Given the description of an element on the screen output the (x, y) to click on. 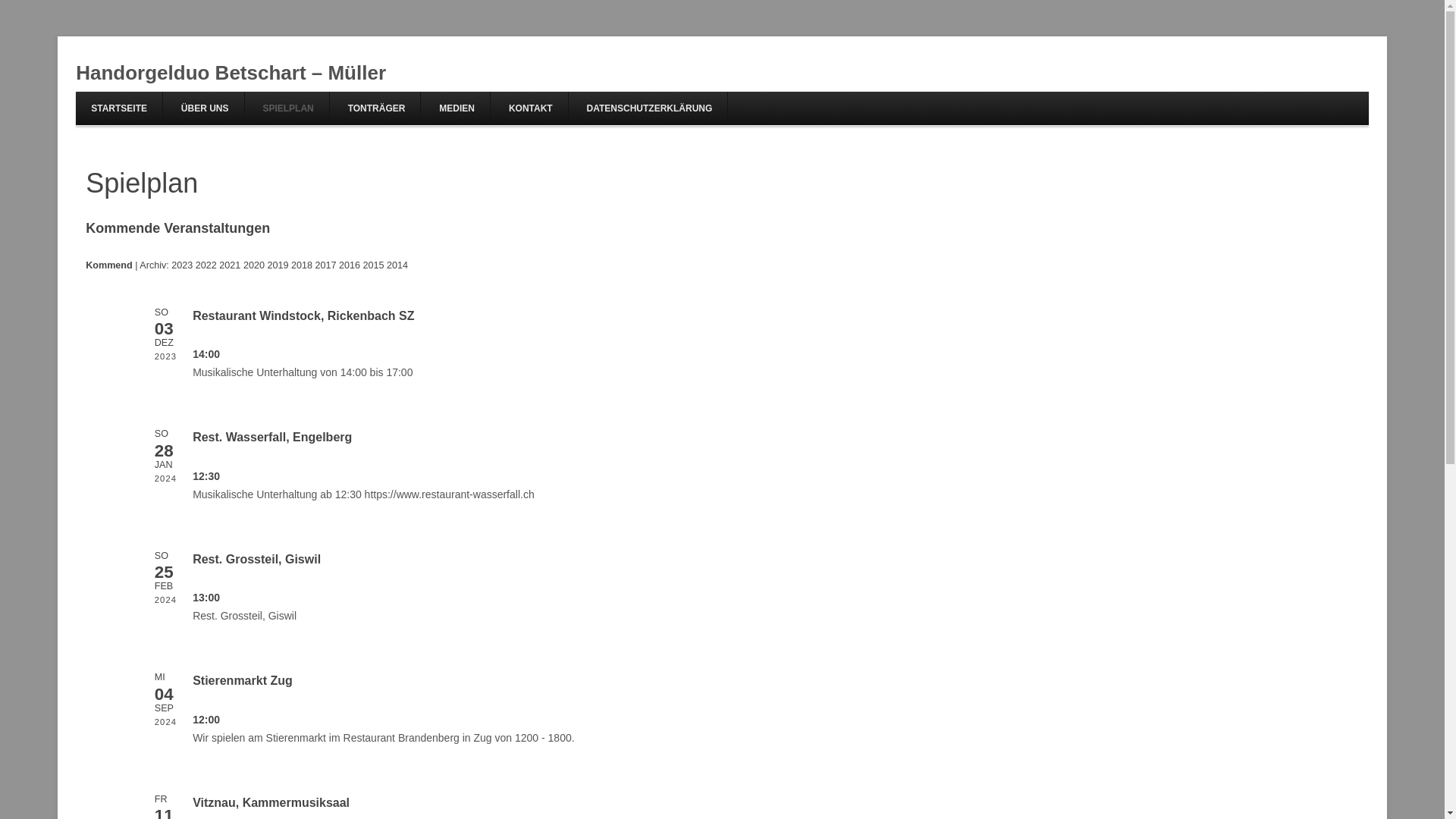
MEDIEN Element type: text (456, 108)
KONTAKT Element type: text (530, 108)
STARTSEITE Element type: text (118, 108)
Stierenmarkt Zug Element type: text (242, 680)
2021 Element type: text (229, 265)
2020 Element type: text (253, 265)
2018 Element type: text (301, 265)
2014 Element type: text (396, 265)
SPIELPLAN Element type: text (287, 108)
2016 Element type: text (349, 265)
Vitznau, Kammermusiksaal Element type: text (270, 802)
2019 Element type: text (277, 265)
2015 Element type: text (373, 265)
Rest. Wasserfall, Engelberg Element type: text (271, 436)
2023 Element type: text (181, 265)
2022 Element type: text (205, 265)
Rest. Grossteil, Giswil Element type: text (256, 558)
Restaurant Windstock, Rickenbach SZ Element type: text (303, 315)
2017 Element type: text (324, 265)
Zum Inhalt springen Element type: text (924, 77)
